Given the description of an element on the screen output the (x, y) to click on. 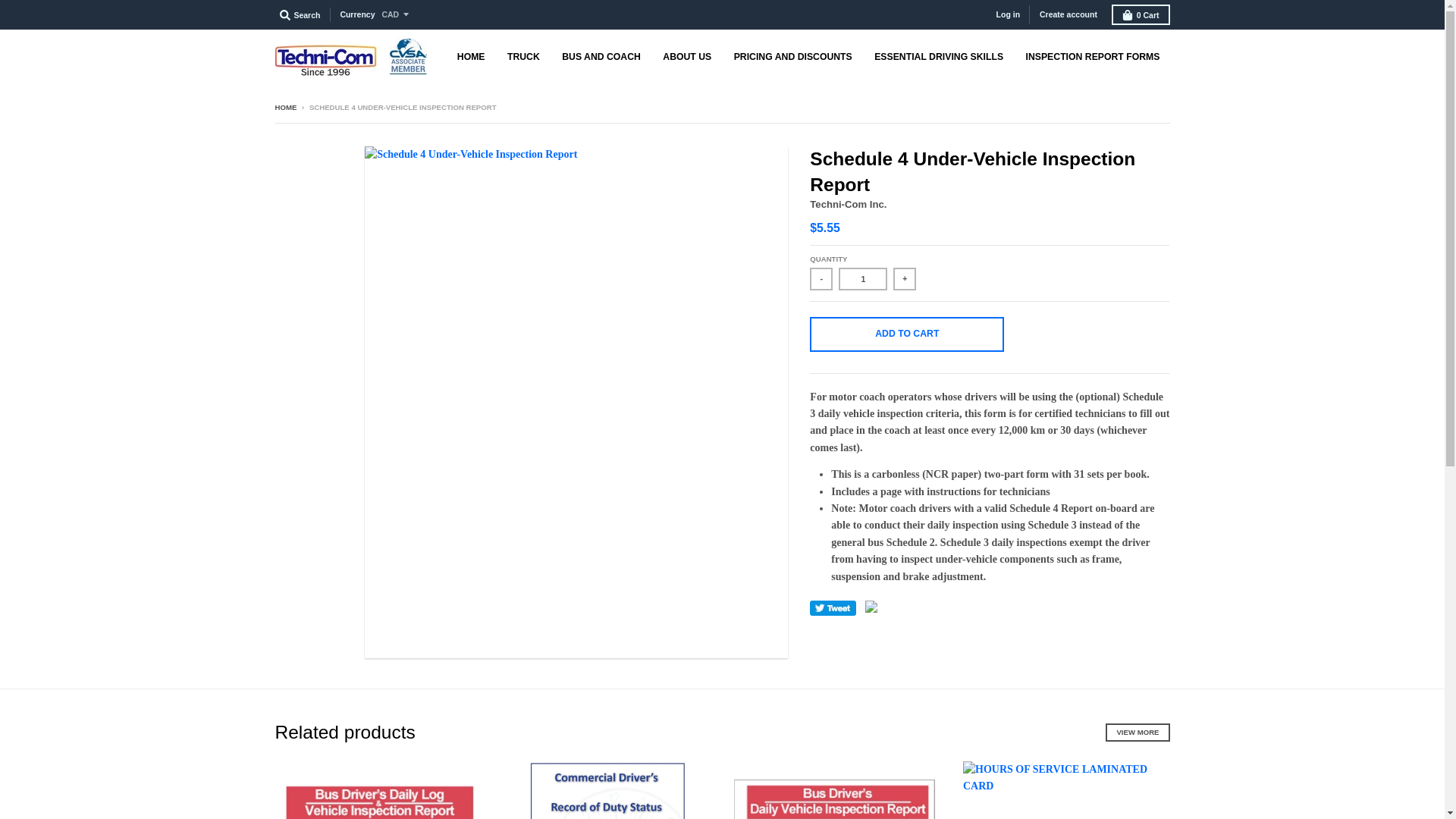
Techni-Com Inc. (847, 204)
1 (862, 278)
Create account (1068, 14)
0 Cart (1141, 14)
Search (299, 14)
Log in (1008, 14)
HOME (470, 56)
BUS AND COACH (600, 56)
PRICING AND DISCOUNTS (792, 56)
TRUCK (523, 56)
INSPECTION REPORT FORMS (1093, 56)
- (820, 278)
HOME (286, 107)
ADD TO CART (906, 334)
Techni-Com Inc. (847, 204)
